Given the description of an element on the screen output the (x, y) to click on. 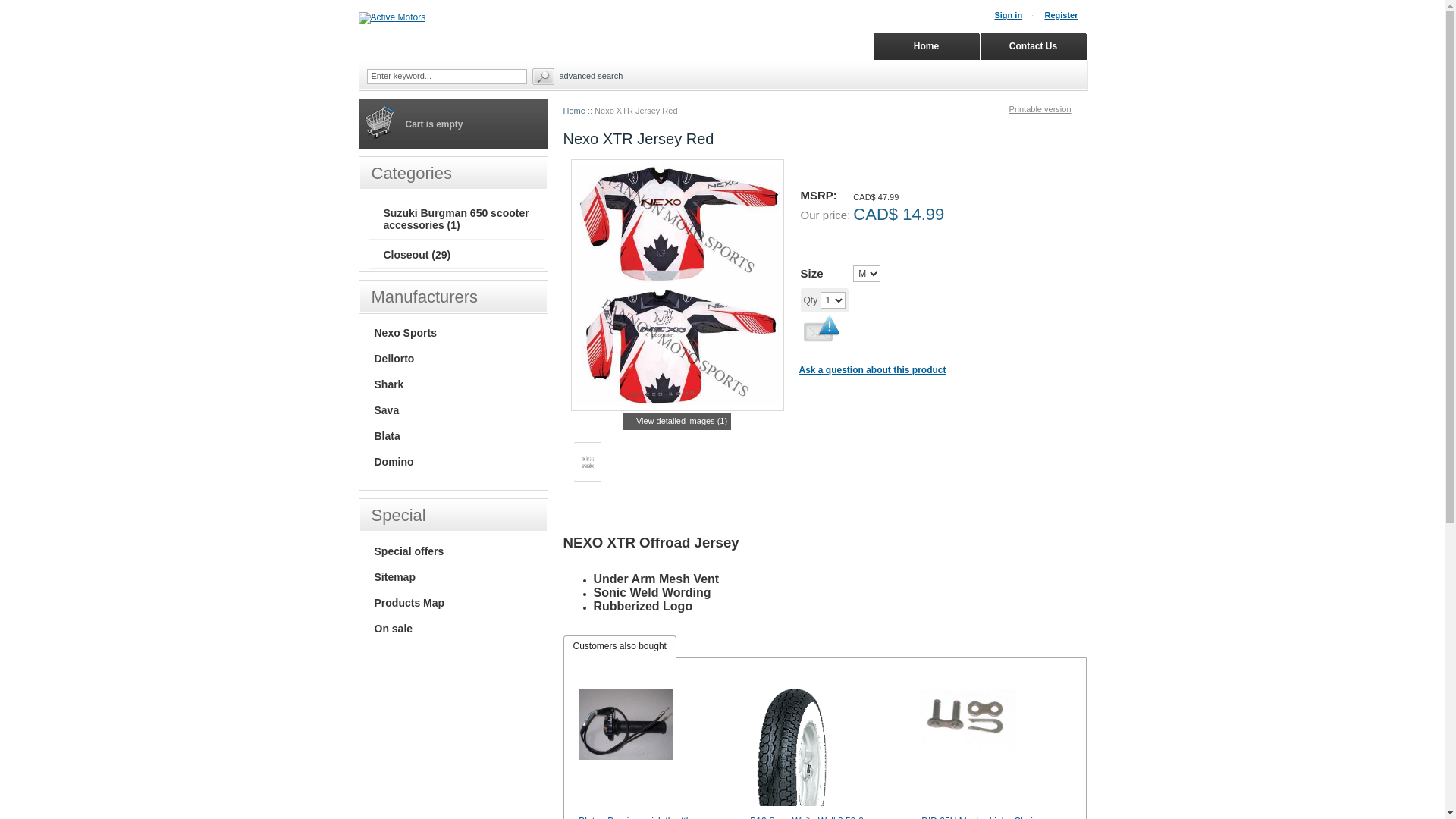
Closeout (29) Element type: text (417, 254)
advanced search Element type: text (591, 75)
Printable version Element type: text (1047, 109)
Nexo XTR Jersey Red Element type: hover (676, 284)
Shark Element type: text (389, 384)
Register Element type: text (1066, 14)
B13 Sava White Wall 3.50-8 Element type: hover (791, 747)
Ask a question about this product Element type: text (872, 369)
Dellorto Element type: text (394, 358)
Home Element type: text (926, 46)
View detailed images (1) Element type: text (677, 421)
Customers also bought Element type: text (619, 646)
Special offers Element type: text (409, 551)
DID 25H Master Link - Chain Element type: hover (968, 720)
Suzuki Burgman 650 scooter accessories (1) Element type: text (456, 219)
Active Motors On-Line store Element type: hover (391, 18)
Add to cart Element type: text (902, 300)
Sitemap Element type: text (394, 577)
Sign in Element type: text (1014, 14)
Blata Element type: text (387, 435)
Sava Element type: text (386, 410)
Home Element type: text (573, 110)
Products Map Element type: text (409, 602)
On sale Element type: text (393, 628)
Contact Us Element type: text (1032, 46)
Domino Element type: text (394, 461)
Blata - Domino quick throttle Element type: hover (625, 723)
Nexo Sports Element type: text (405, 332)
